Given the description of an element on the screen output the (x, y) to click on. 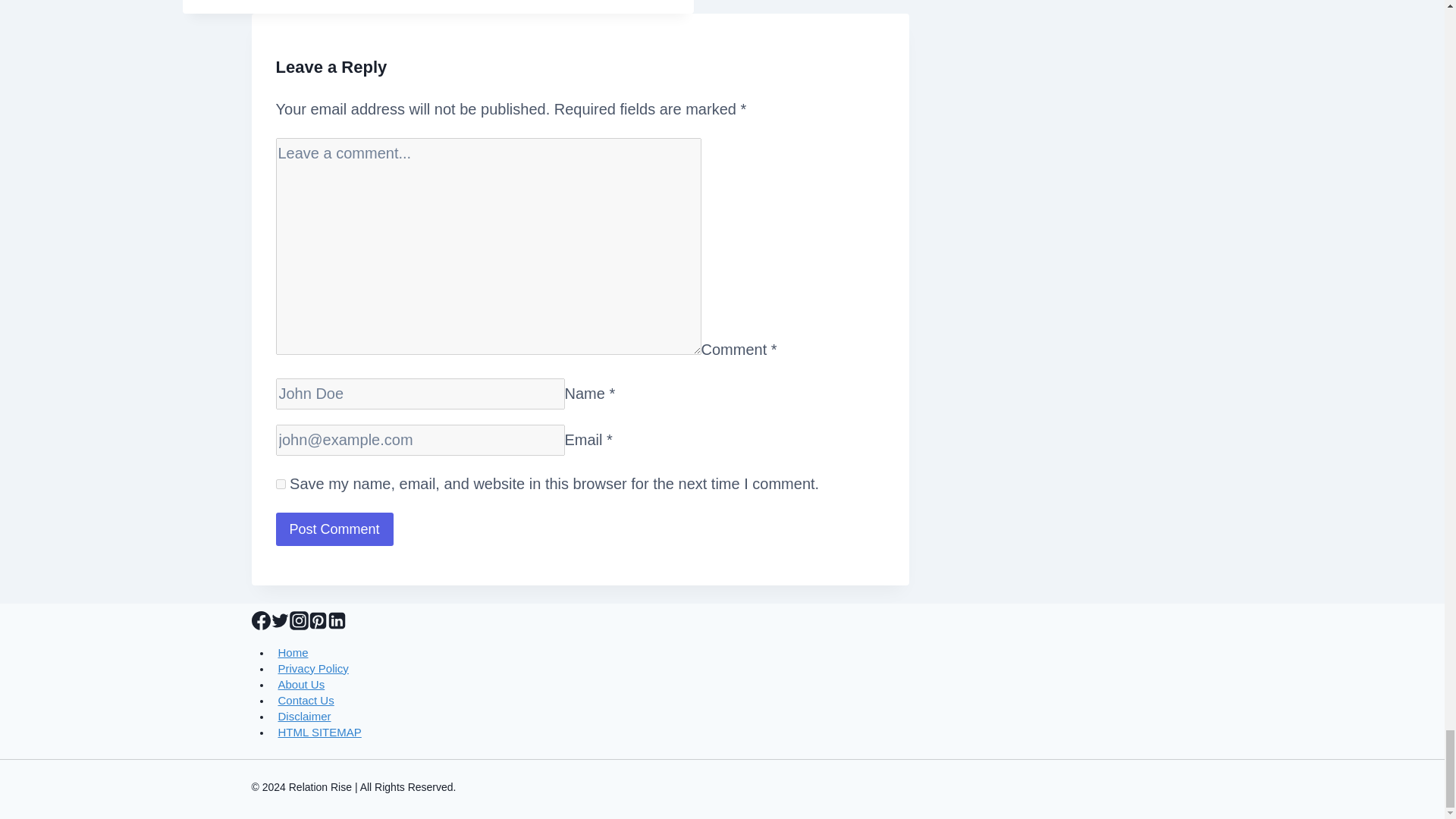
Post Comment (334, 528)
yes (280, 483)
